Given the description of an element on the screen output the (x, y) to click on. 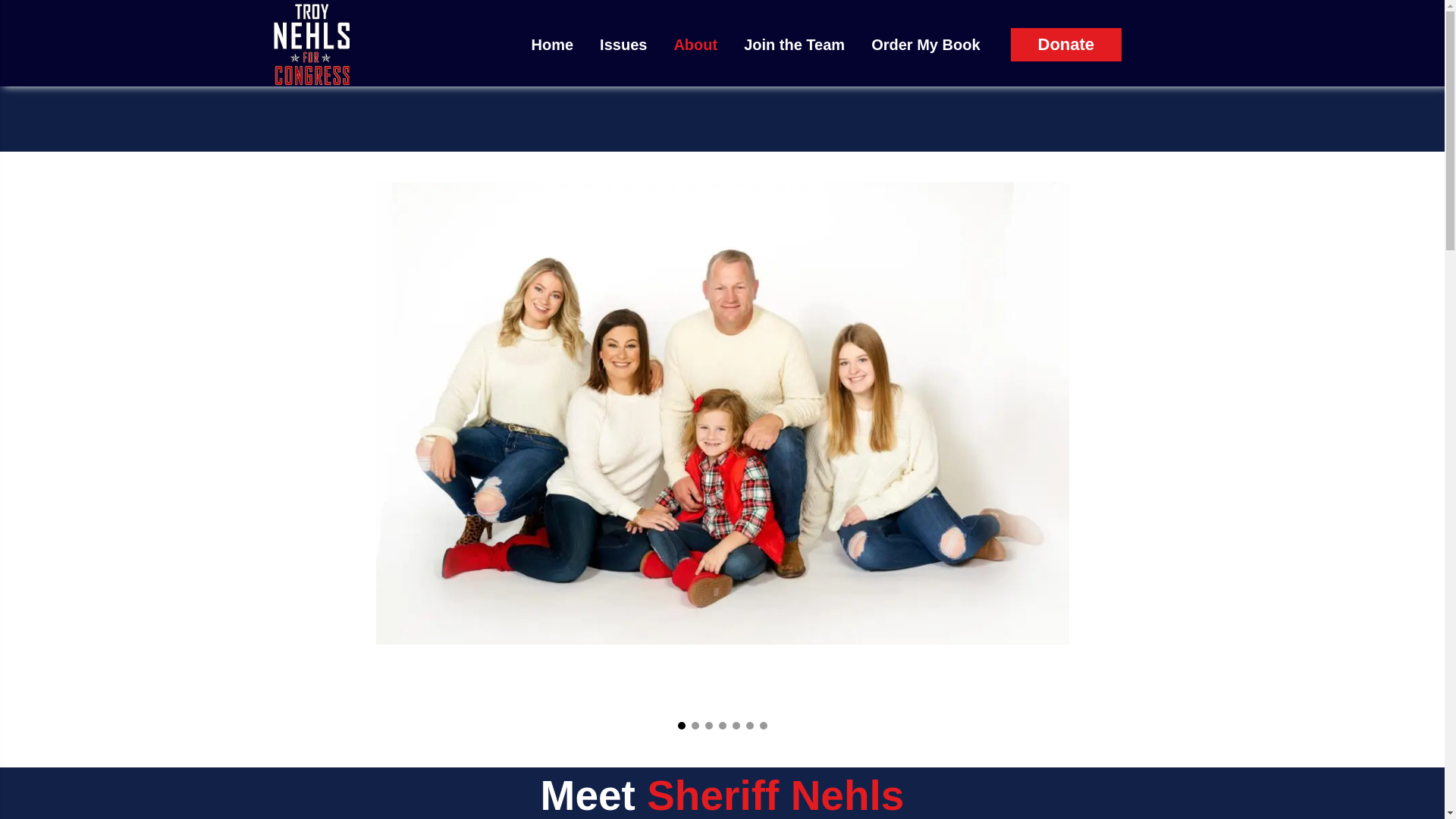
Meet Sheriff Nehls (722, 795)
Donate (1065, 44)
Troy Nehls for Congress (311, 45)
Home (554, 44)
Order My Book (927, 44)
About (697, 44)
Issues (625, 44)
Join the Team (796, 44)
